Given the description of an element on the screen output the (x, y) to click on. 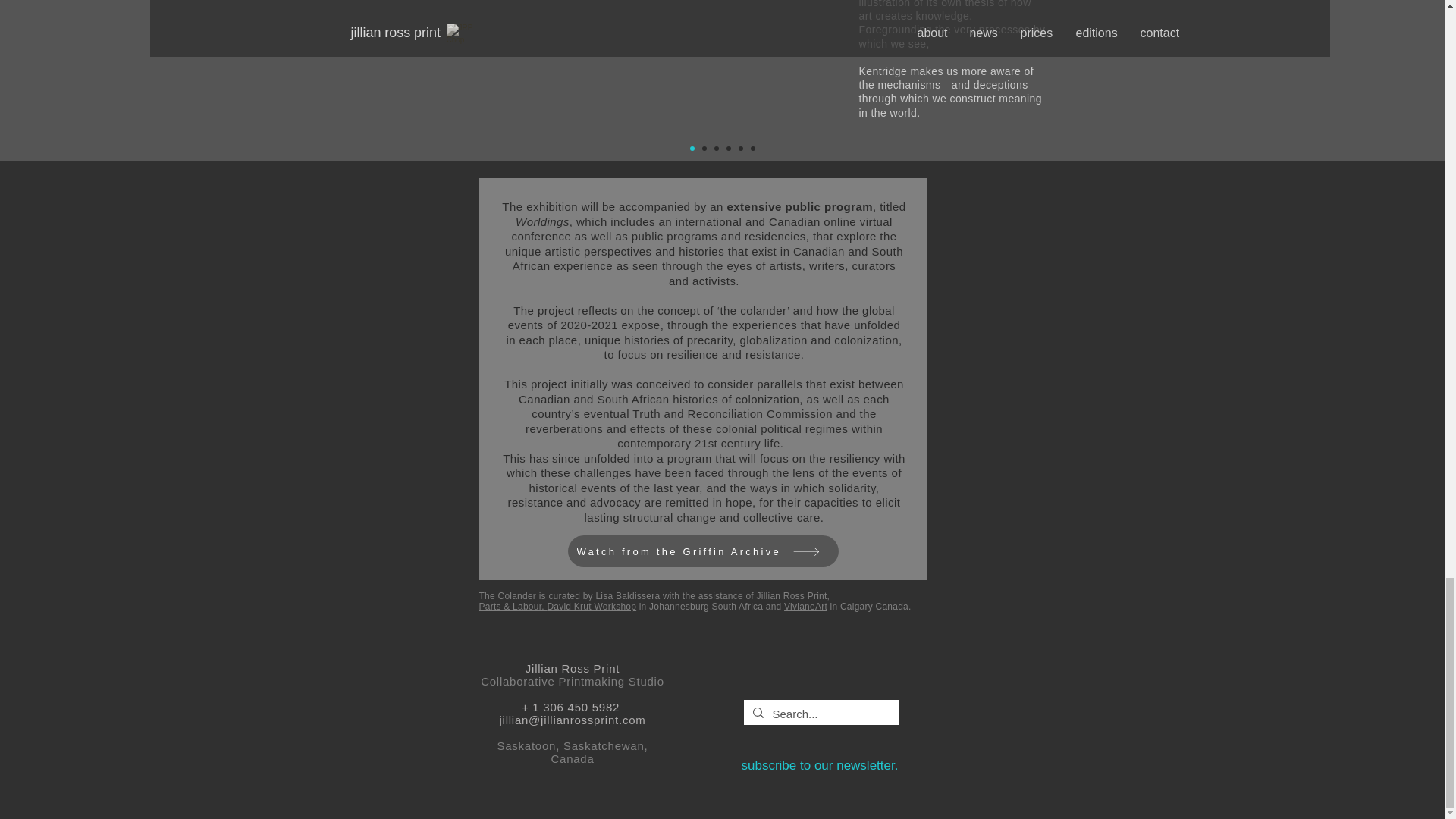
Worldings (542, 221)
Watch from the Griffin Archive (702, 551)
David Krut Workshop (591, 606)
VivianeArt (805, 606)
